Given the description of an element on the screen output the (x, y) to click on. 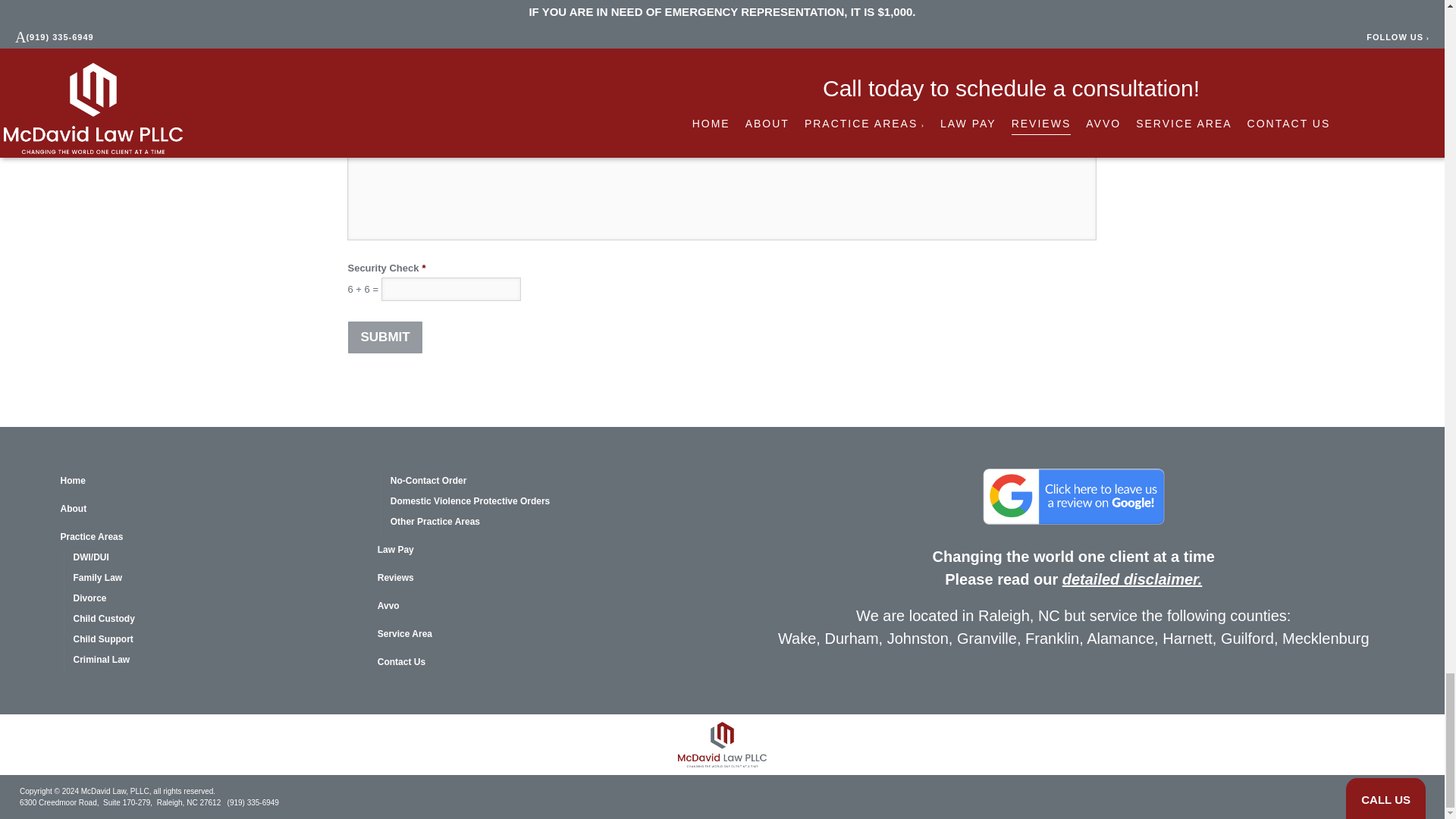
Home (212, 482)
McDavid Law, PLLC (722, 744)
Submit (384, 337)
About (212, 510)
Practice Areas (212, 538)
